Given the description of an element on the screen output the (x, y) to click on. 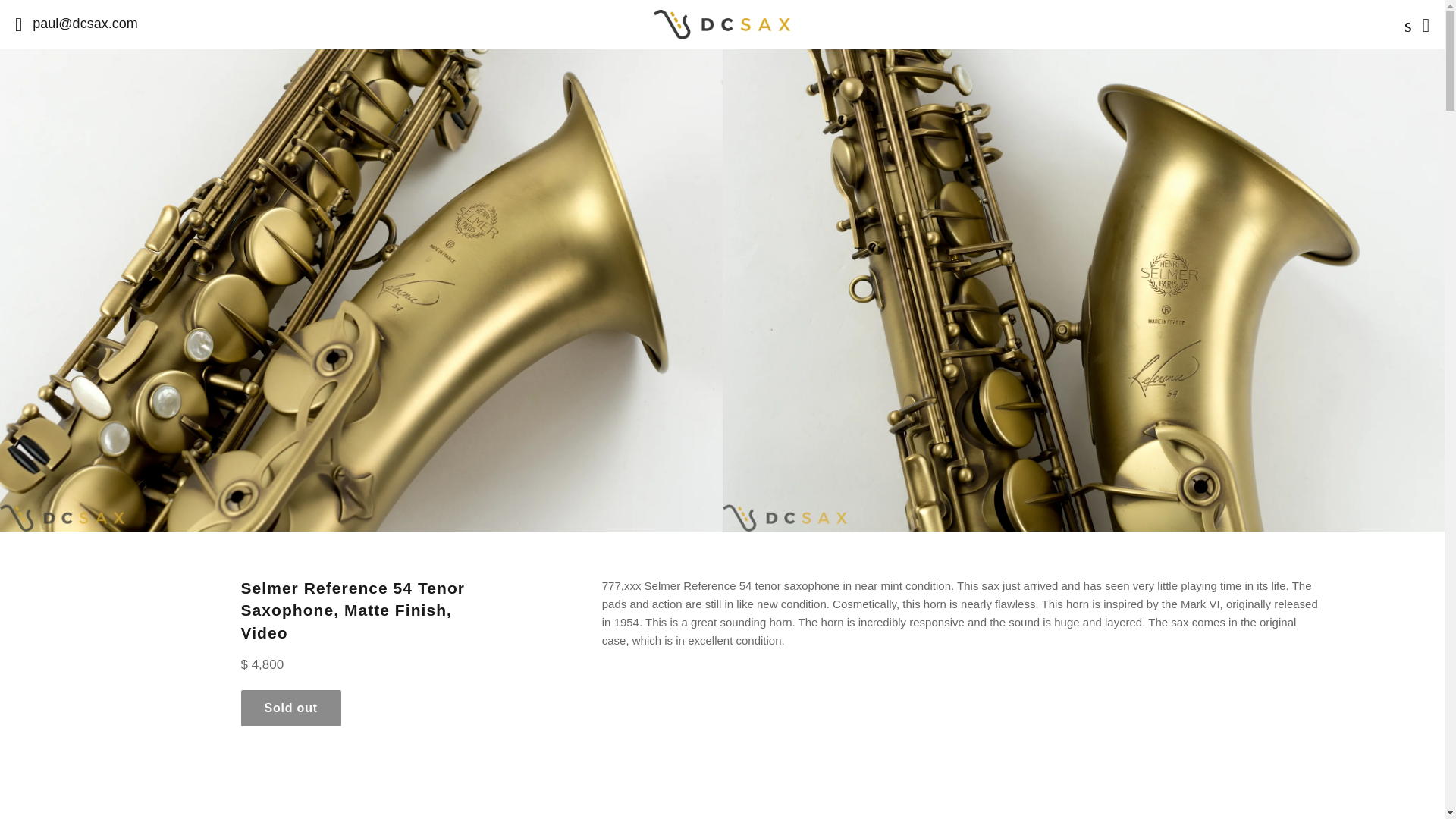
Sold out (290, 708)
